Given the description of an element on the screen output the (x, y) to click on. 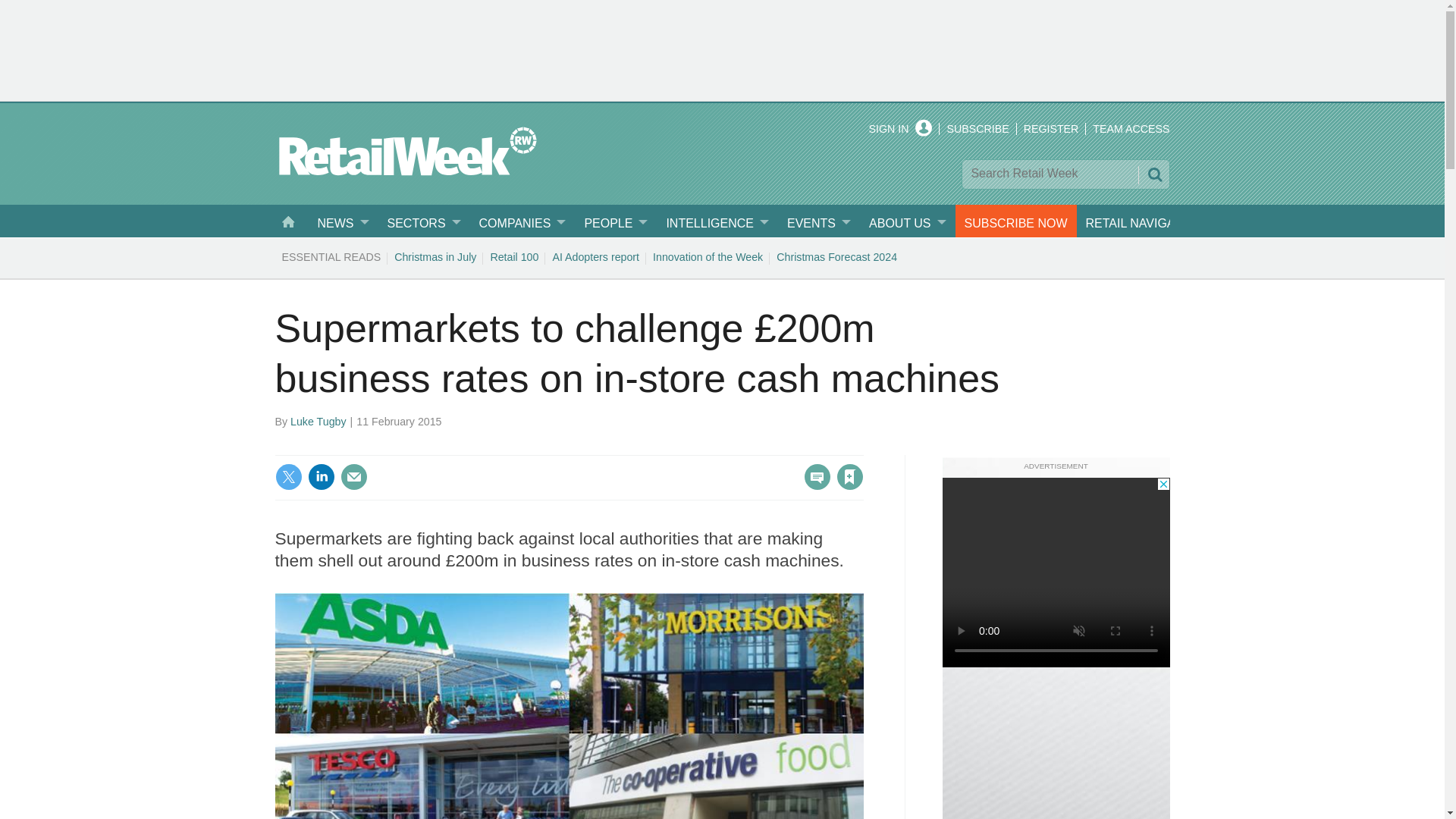
AI Adopters report (595, 256)
REGISTER (1050, 128)
Share this on Linked in (320, 476)
Christmas Forecast 2024 (837, 256)
Email this article (352, 476)
3rd party ad content (722, 48)
SIGN IN (901, 128)
Retail 100 (513, 256)
TEAM ACCESS (1131, 128)
Innovation of the Week (708, 256)
SUBSCRIBE (977, 128)
Share this on Twitter (288, 476)
SEARCH (1153, 174)
3rd party ad content (1055, 572)
No comments (812, 485)
